Given the description of an element on the screen output the (x, y) to click on. 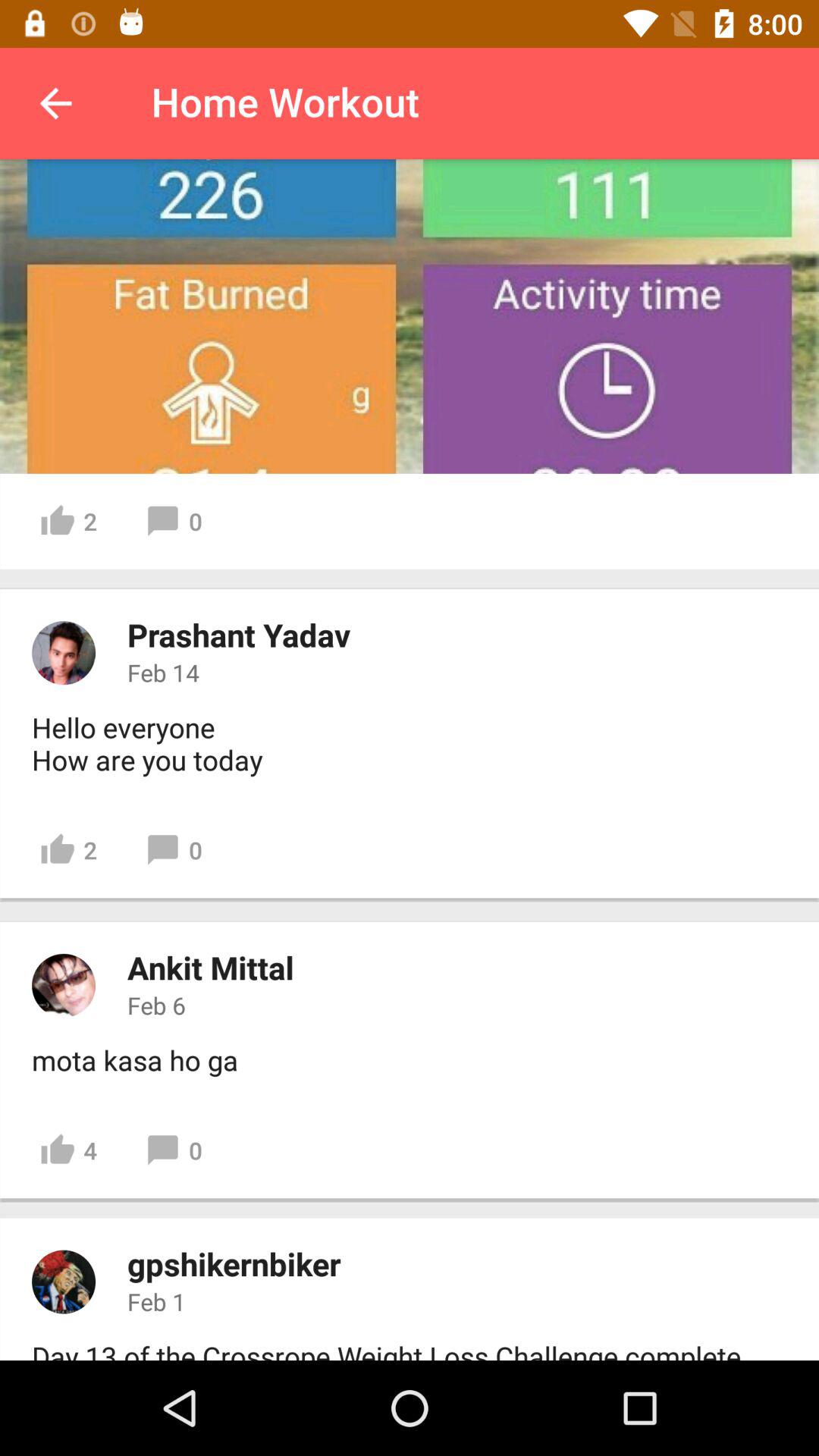
toggle profile option (63, 652)
